Given the description of an element on the screen output the (x, y) to click on. 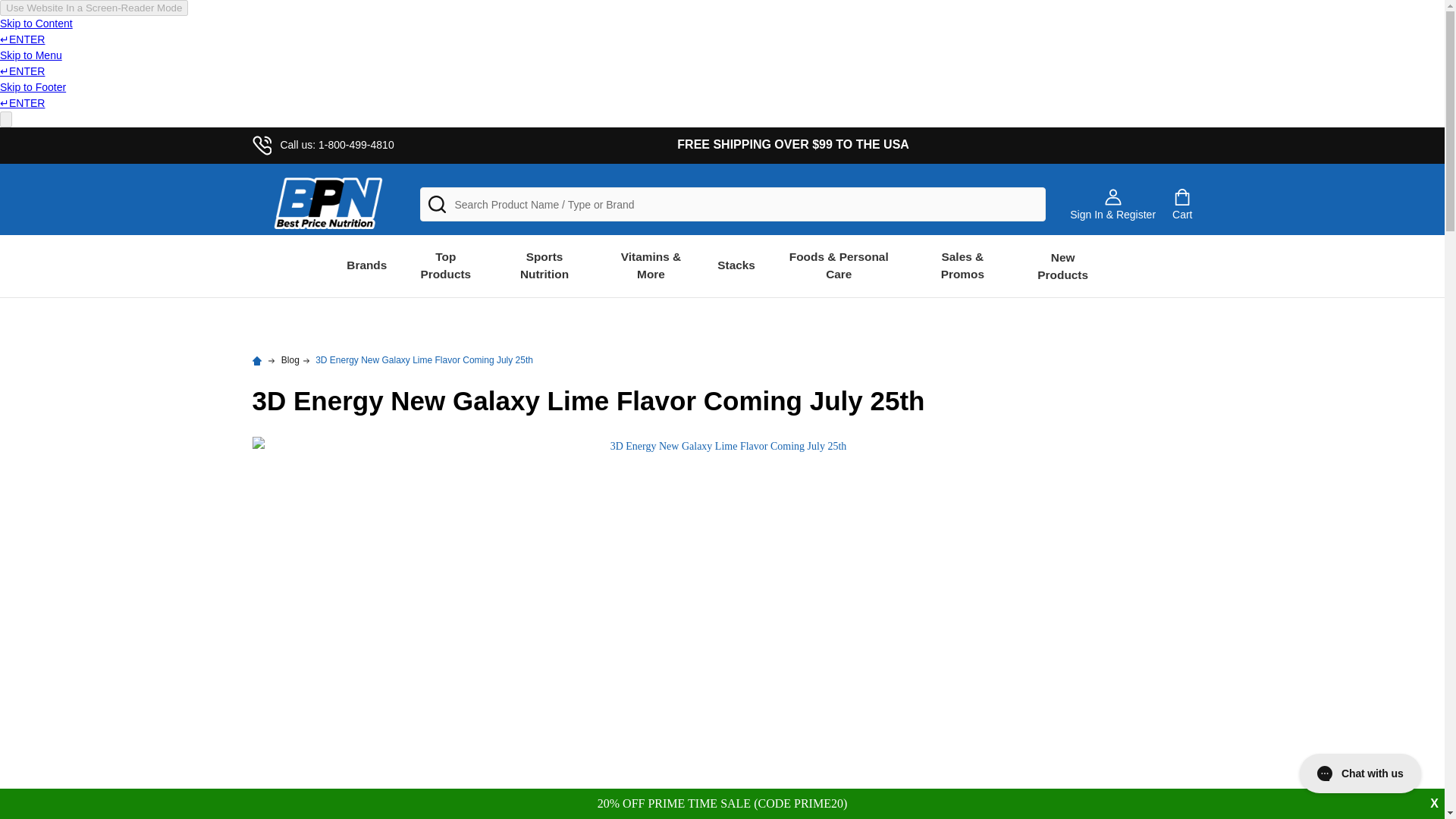
Cart (1182, 204)
Best Price Nutrition Retail Store (327, 204)
Cart (1182, 204)
Top Products (445, 265)
Sports Nutrition (544, 265)
Brands (365, 264)
Top Products (445, 265)
Brands (365, 264)
Call us: 1-800-499-4810 (322, 144)
